Given the description of an element on the screen output the (x, y) to click on. 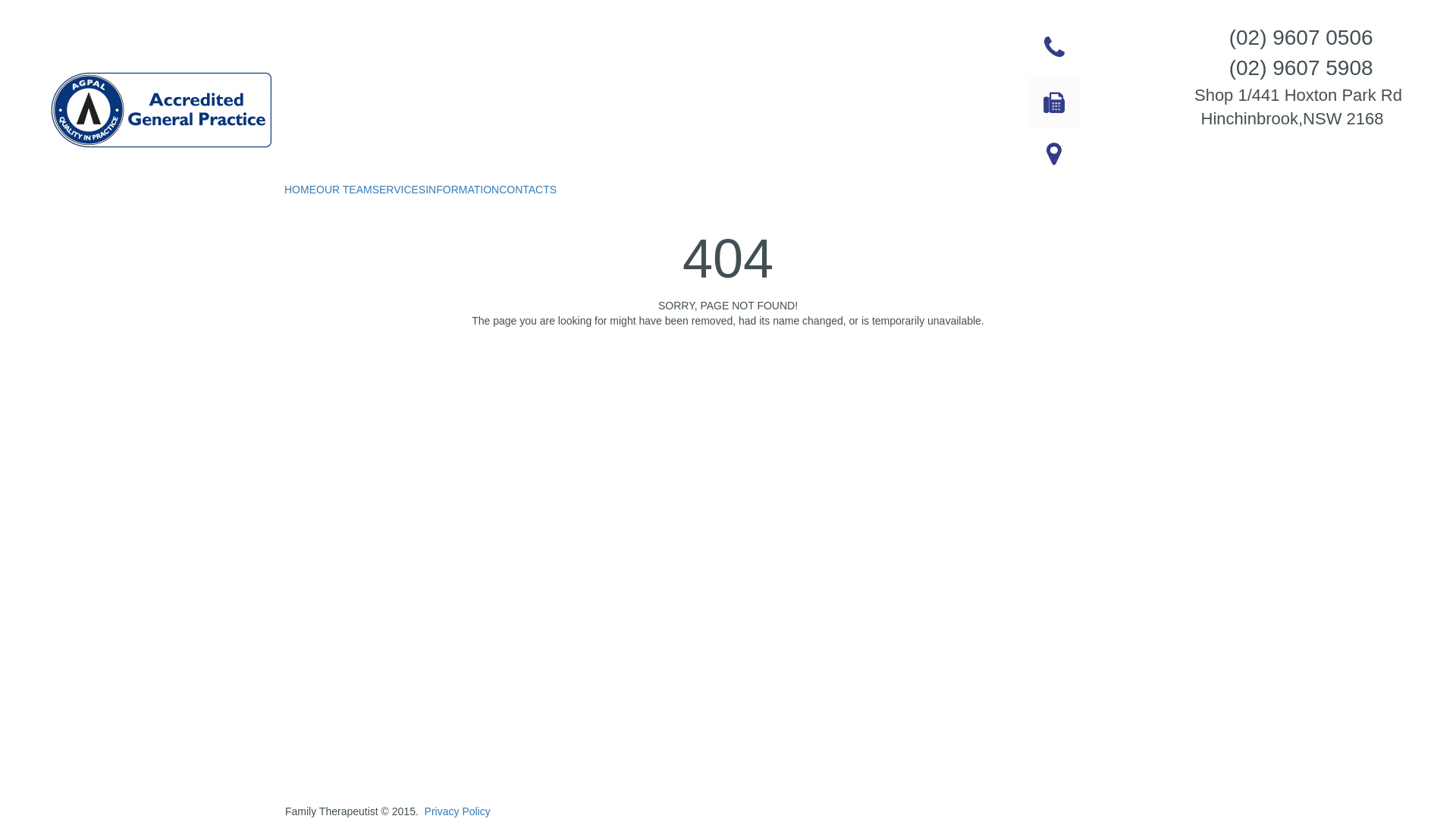
SERVICES Element type: text (399, 189)
CONTACTS Element type: text (527, 189)
INFORMATION Element type: text (461, 189)
OUR TEAM Element type: text (344, 189)
Privacy Policy Element type: text (457, 811)
HOME Element type: text (300, 189)
